Given the description of an element on the screen output the (x, y) to click on. 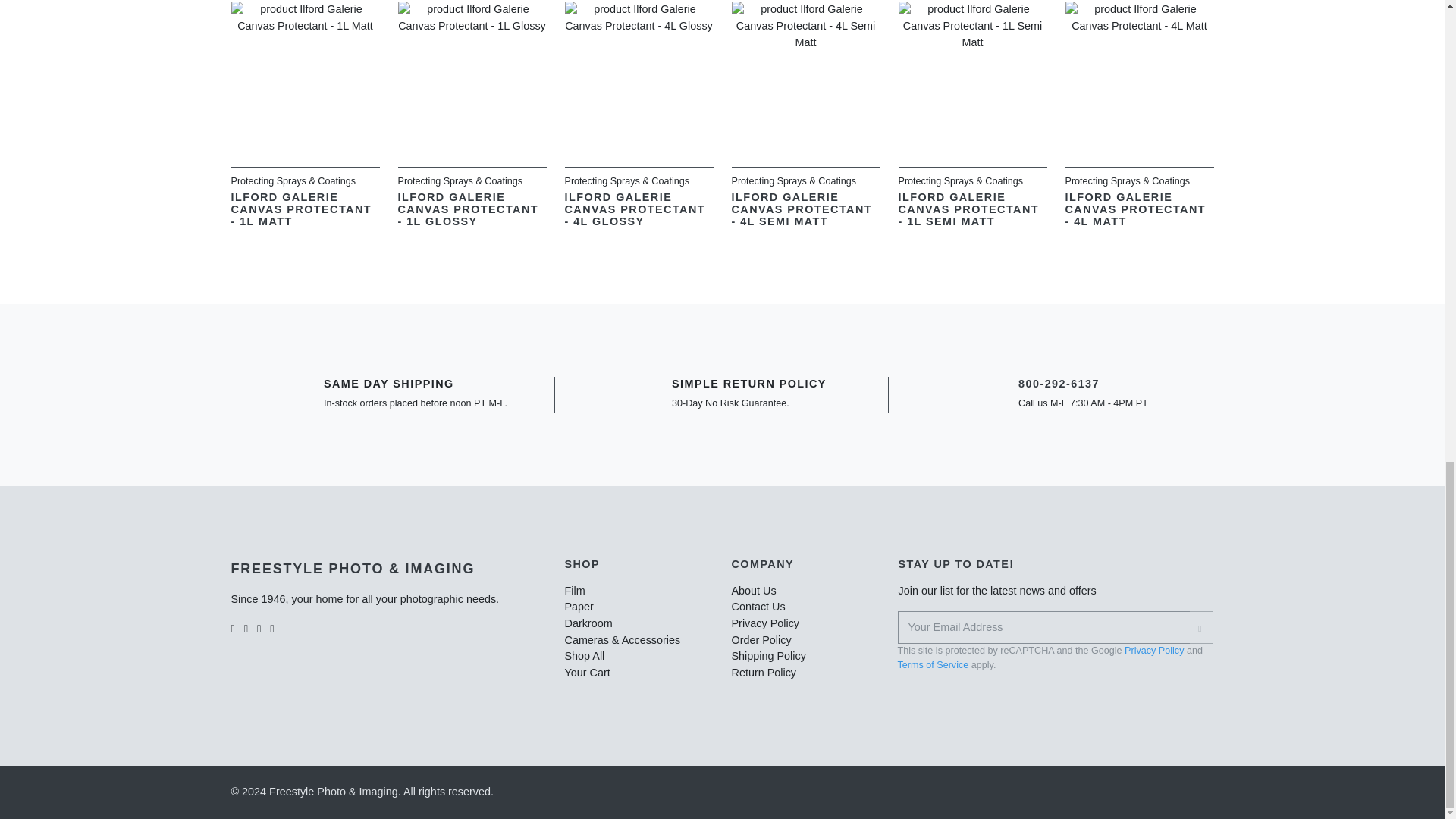
facebook (232, 626)
youtube (271, 626)
instagram (245, 626)
tiktok (258, 626)
